Given the description of an element on the screen output the (x, y) to click on. 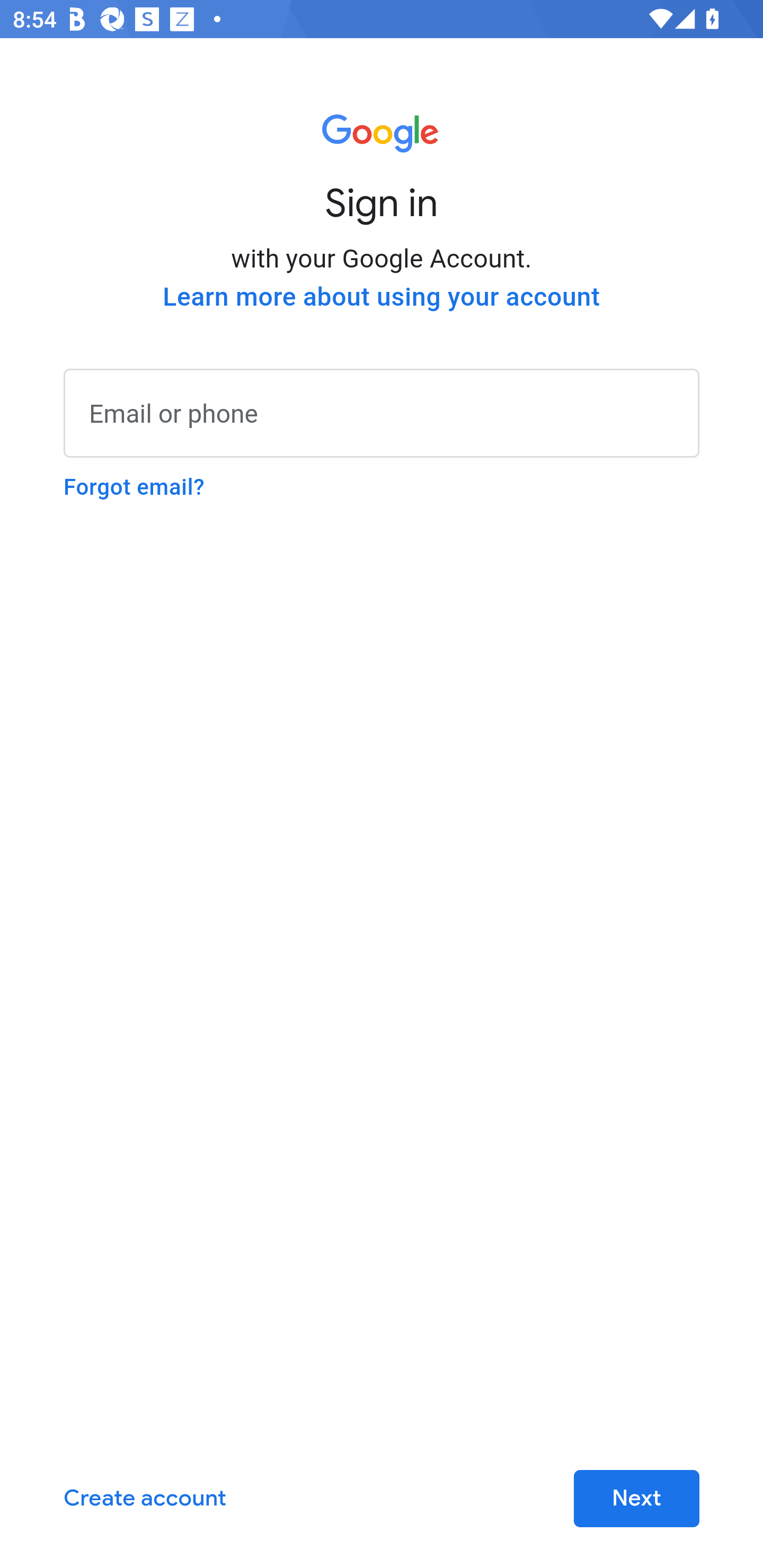
Learn more about using your account (381, 296)
Forgot email? (133, 486)
Create account (145, 1498)
Next (635, 1498)
